Given the description of an element on the screen output the (x, y) to click on. 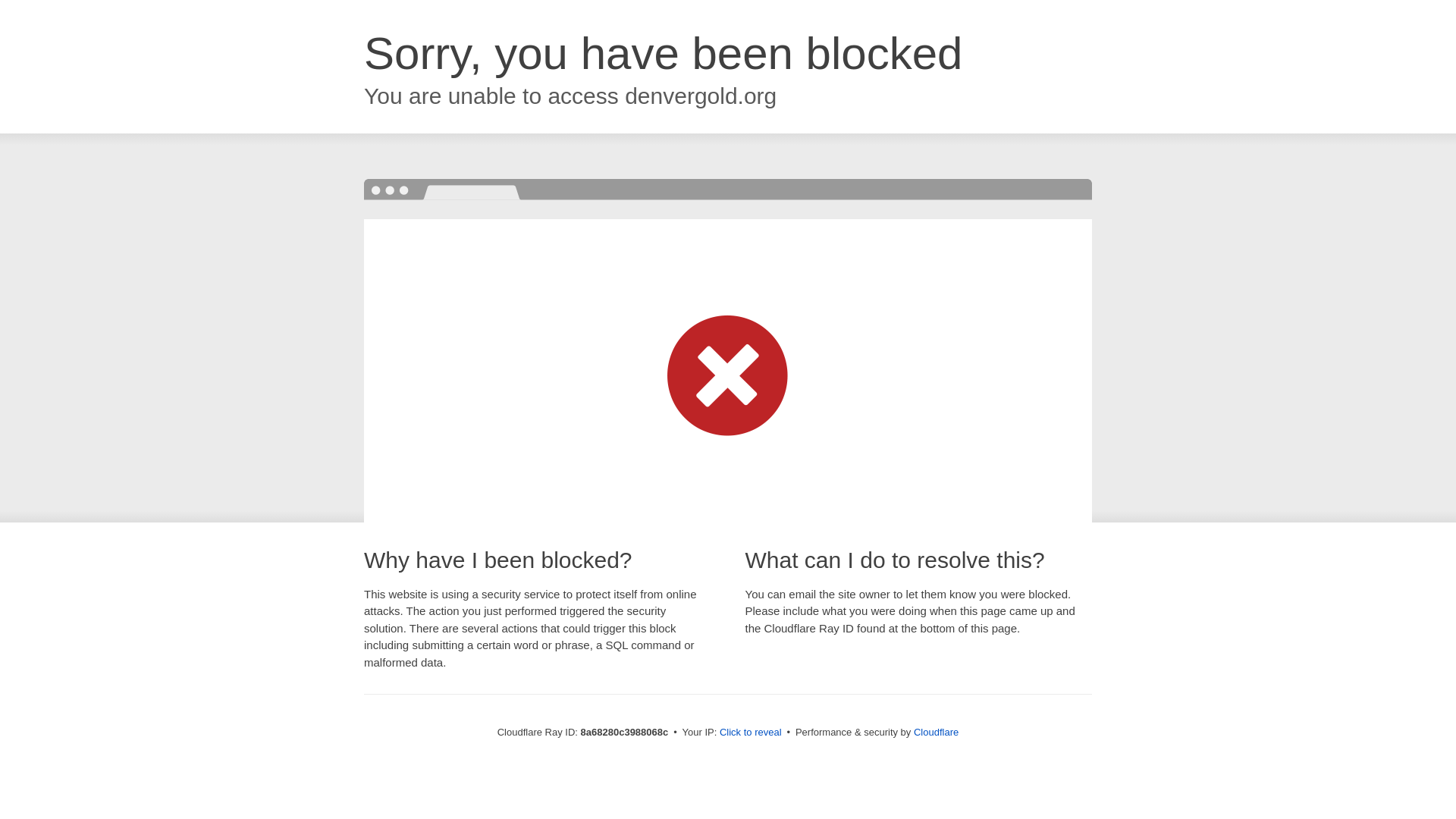
Click to reveal (750, 732)
Cloudflare (936, 731)
